Given the description of an element on the screen output the (x, y) to click on. 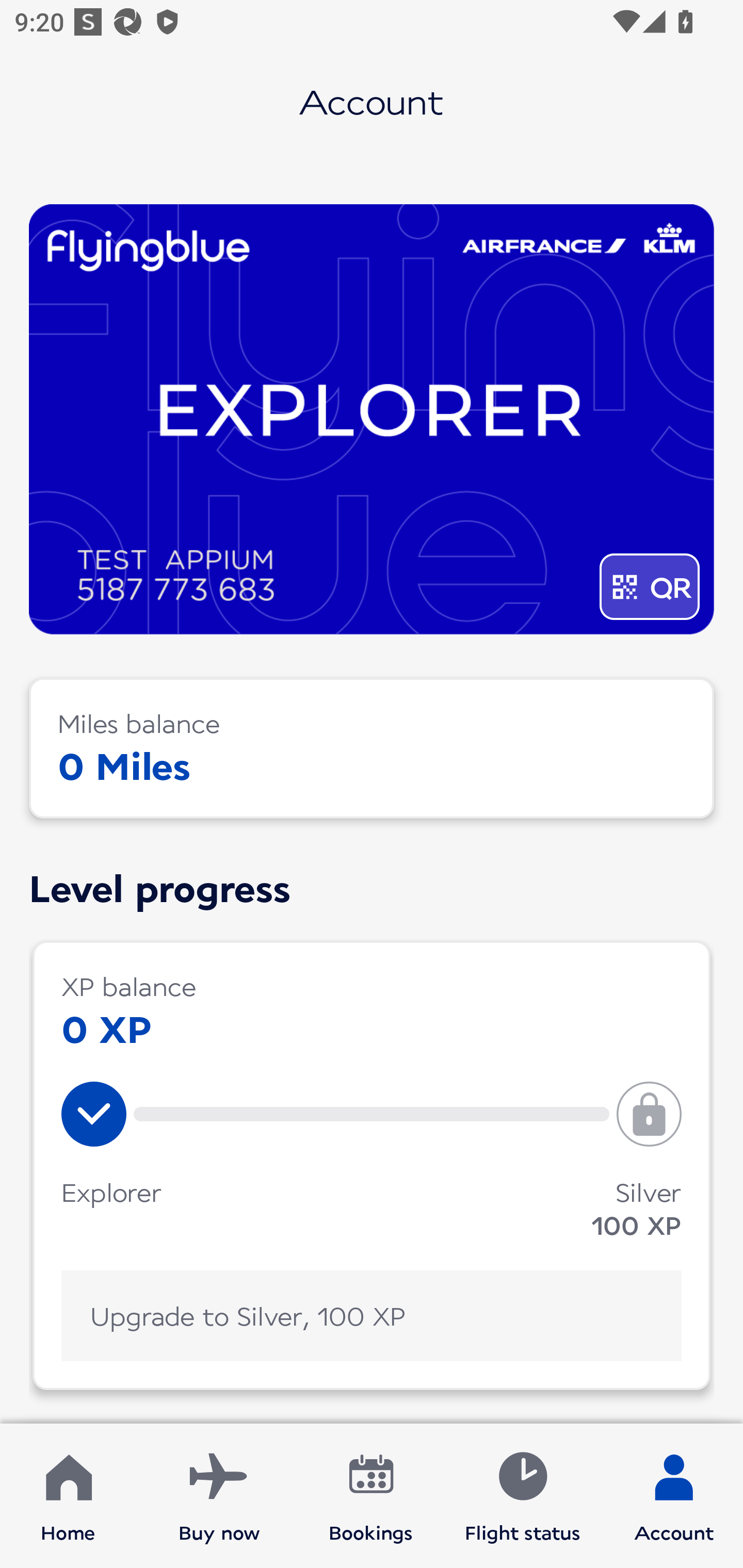
Miles balance 0 Miles (371, 747)
Home (68, 1495)
Buy now (219, 1495)
Bookings (370, 1495)
Flight status (522, 1495)
